Given the description of an element on the screen output the (x, y) to click on. 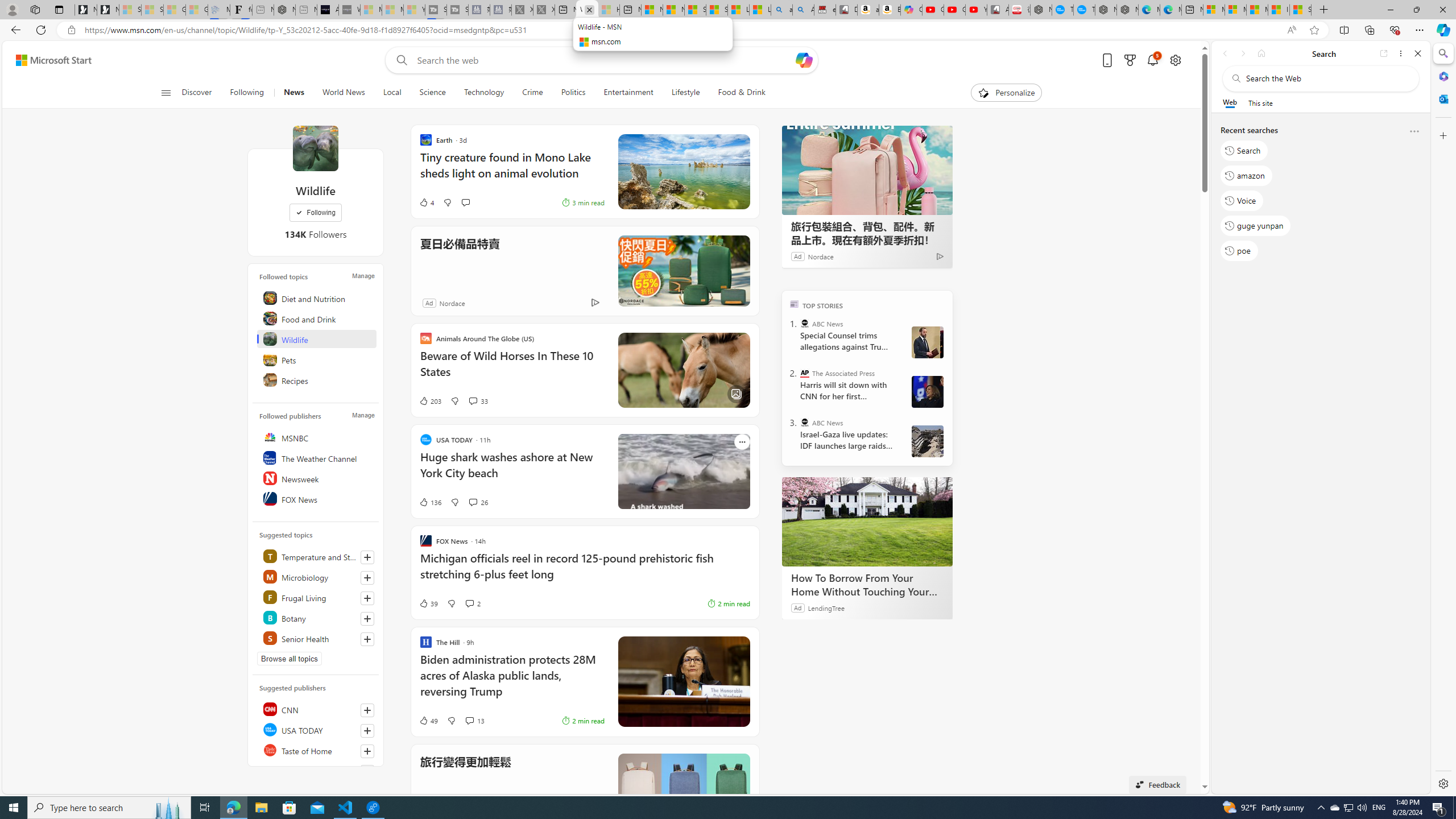
49 Like (427, 720)
Enter your search term (603, 59)
Search the web (1326, 78)
amazon (1246, 175)
Local (392, 92)
Web search (398, 60)
Copilot (911, 9)
